Given the description of an element on the screen output the (x, y) to click on. 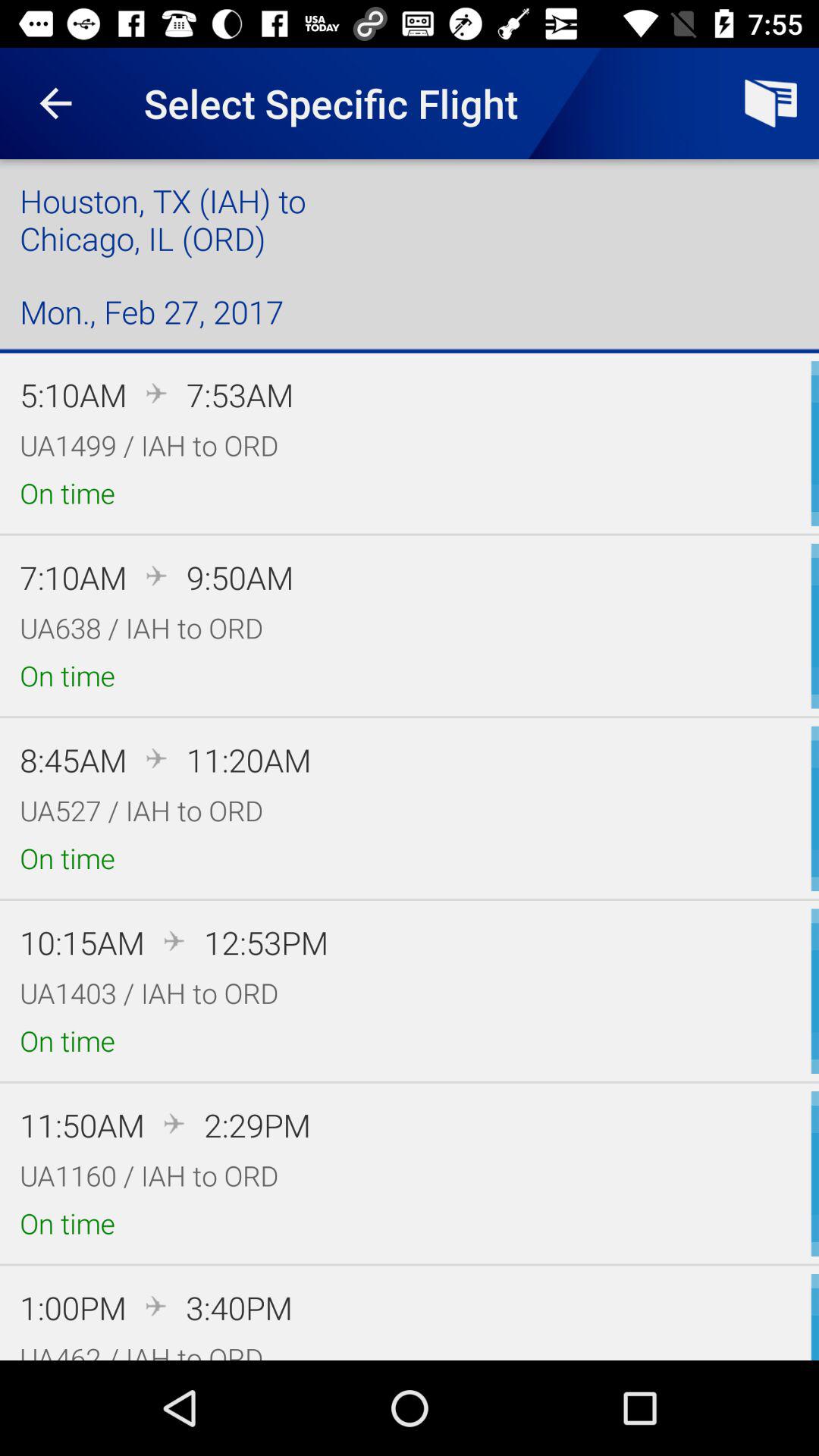
press the 2:29pm item (257, 1124)
